Given the description of an element on the screen output the (x, y) to click on. 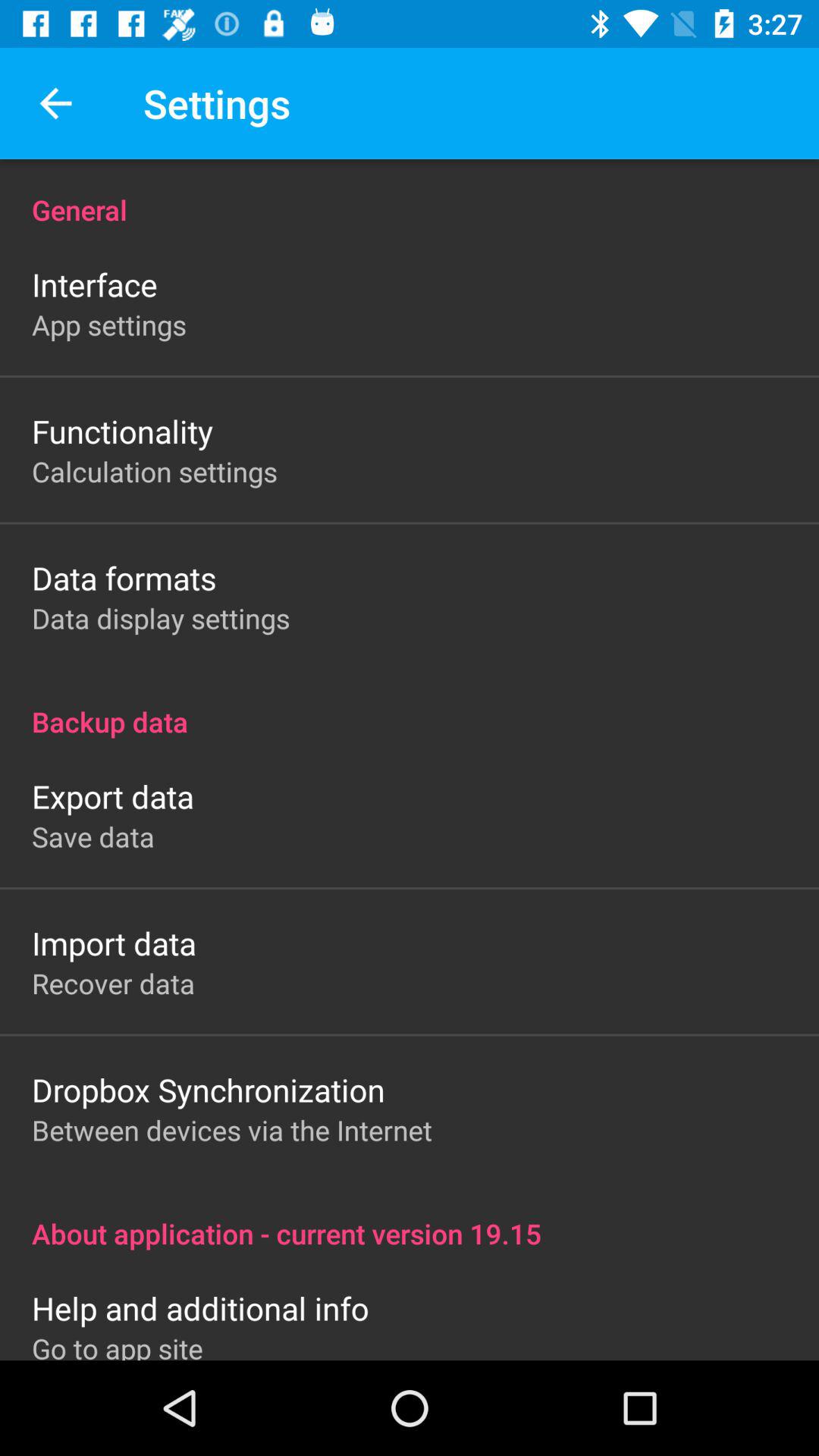
open the go to app item (117, 1344)
